Given the description of an element on the screen output the (x, y) to click on. 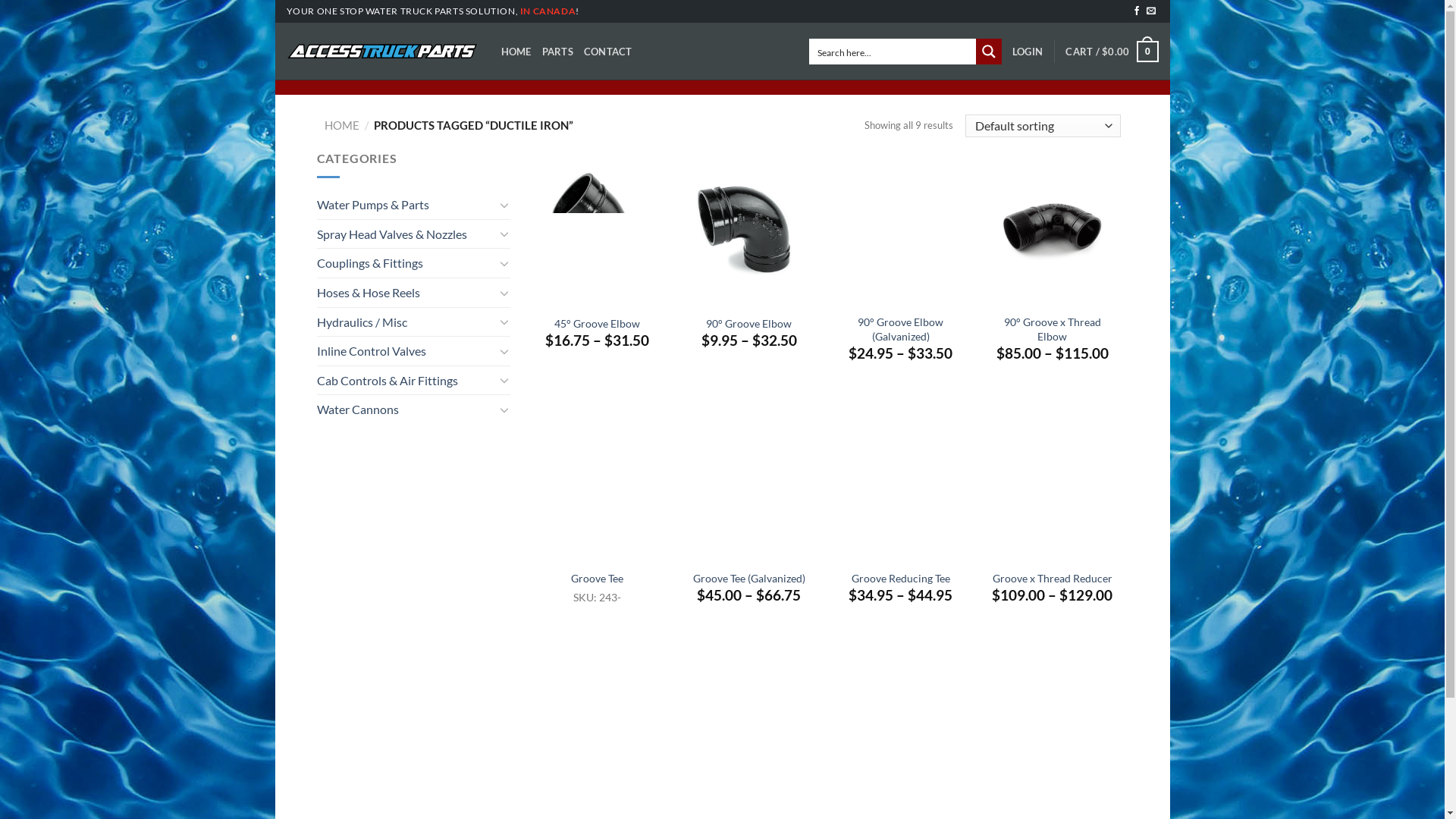
Groove Tee Element type: text (597, 578)
Groove Reducing Tee Element type: text (899, 578)
CONTACT Element type: text (607, 51)
Water Pumps & Parts Element type: text (405, 204)
Skip to content Element type: text (274, 0)
Couplings & Fittings Element type: text (405, 262)
HOME Element type: text (515, 51)
Groove Tee (Galvanized) Element type: text (749, 578)
Cab Controls & Air Fittings Element type: text (405, 380)
Spray Head Valves & Nozzles Element type: text (405, 233)
Hydraulics / Misc Element type: text (405, 321)
Follow on Facebook Element type: hover (1136, 11)
Groove x Thread Reducer Element type: text (1051, 578)
Water Cannons Element type: text (405, 409)
Send us an email Element type: hover (1150, 11)
Hoses & Hose Reels Element type: text (405, 292)
HOME Element type: text (341, 124)
Inline Control Valves Element type: text (405, 350)
CART / $0.00
0 Element type: text (1111, 51)
LOGIN Element type: text (1027, 51)
PARTS Element type: text (557, 51)
